Given the description of an element on the screen output the (x, y) to click on. 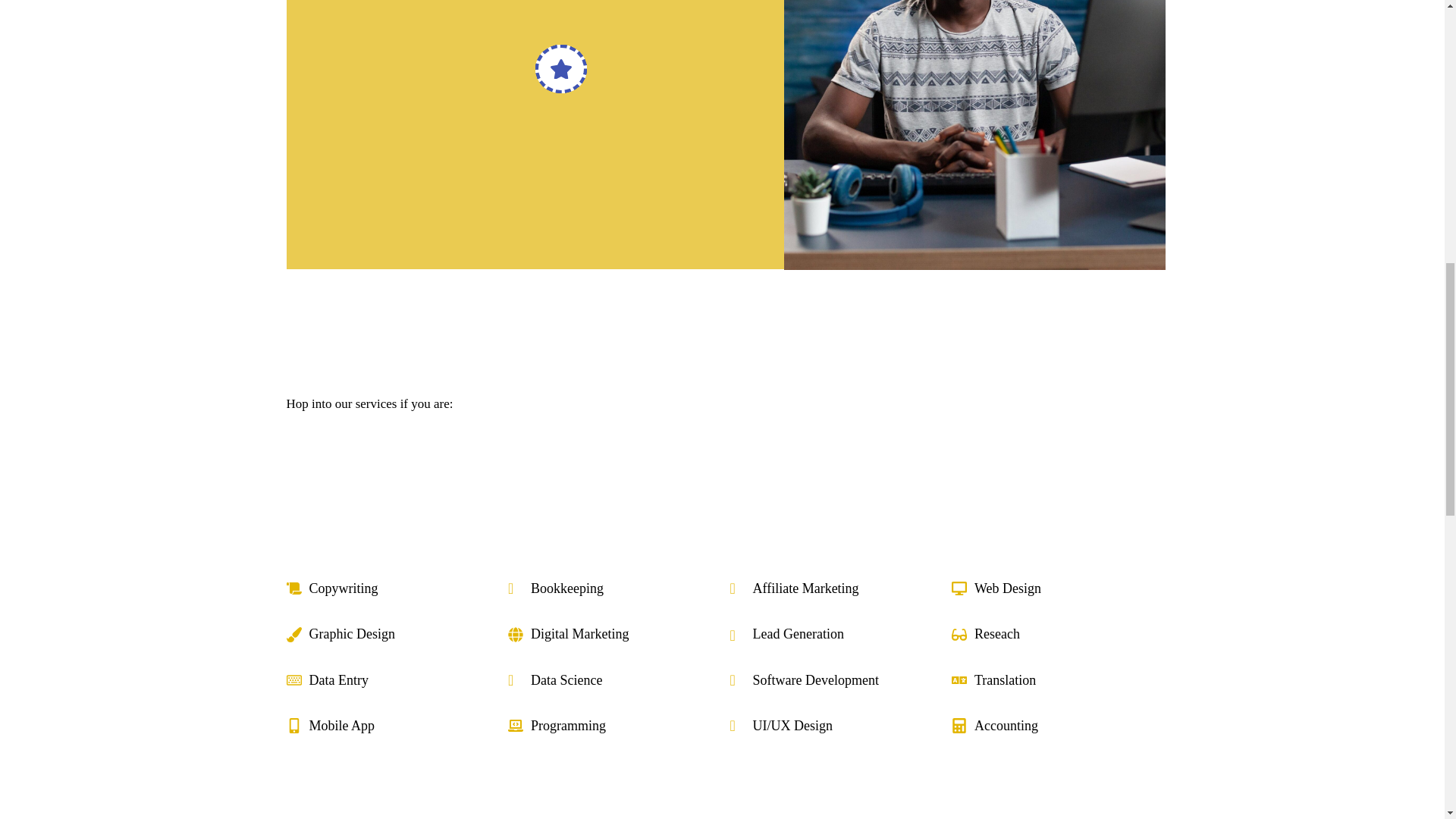
Hop into our services if you are: (722, 403)
